Given the description of an element on the screen output the (x, y) to click on. 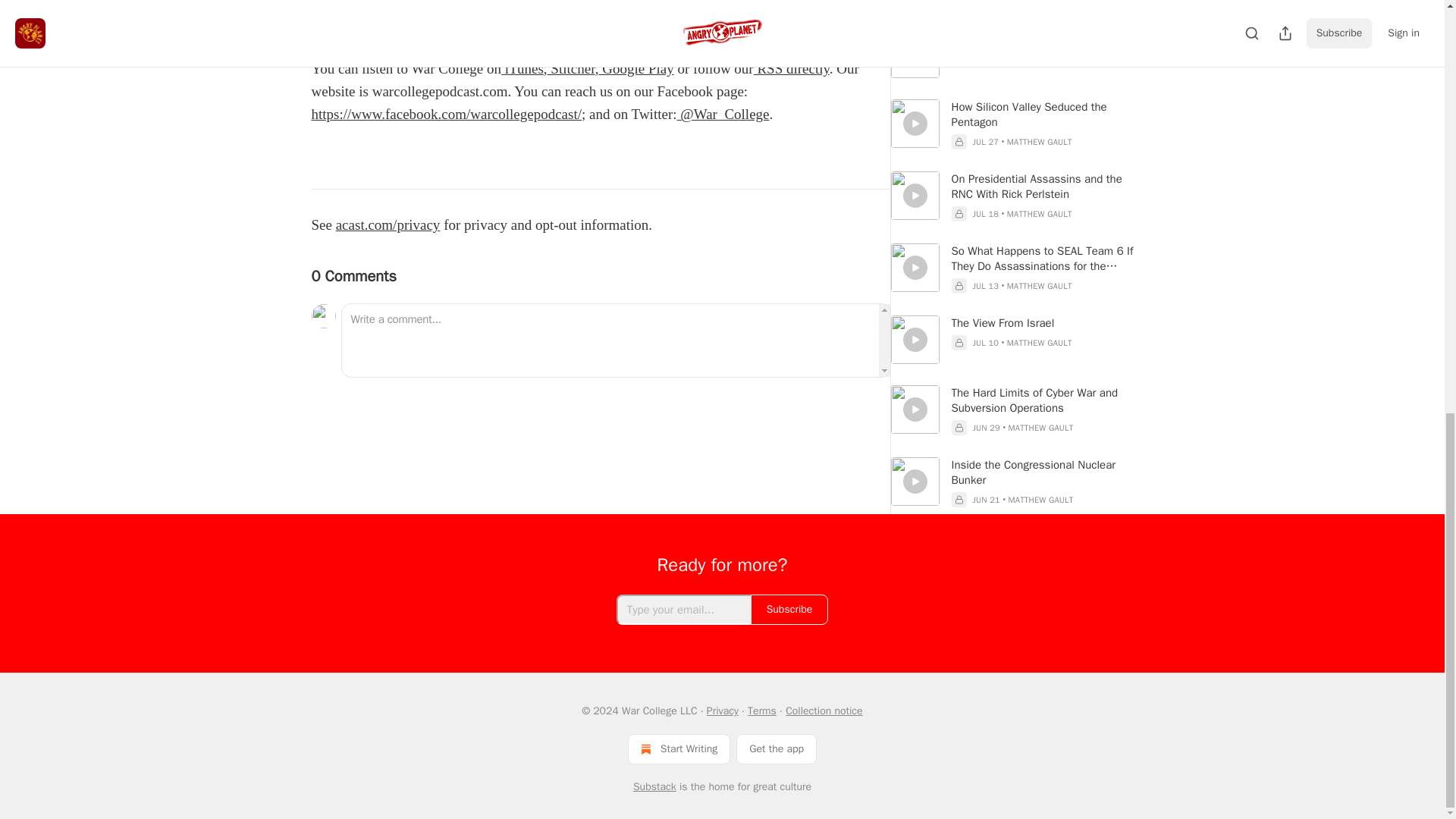
Stitcher (571, 68)
iTunes (521, 68)
RSS directly (791, 68)
Google Play (635, 68)
